Given the description of an element on the screen output the (x, y) to click on. 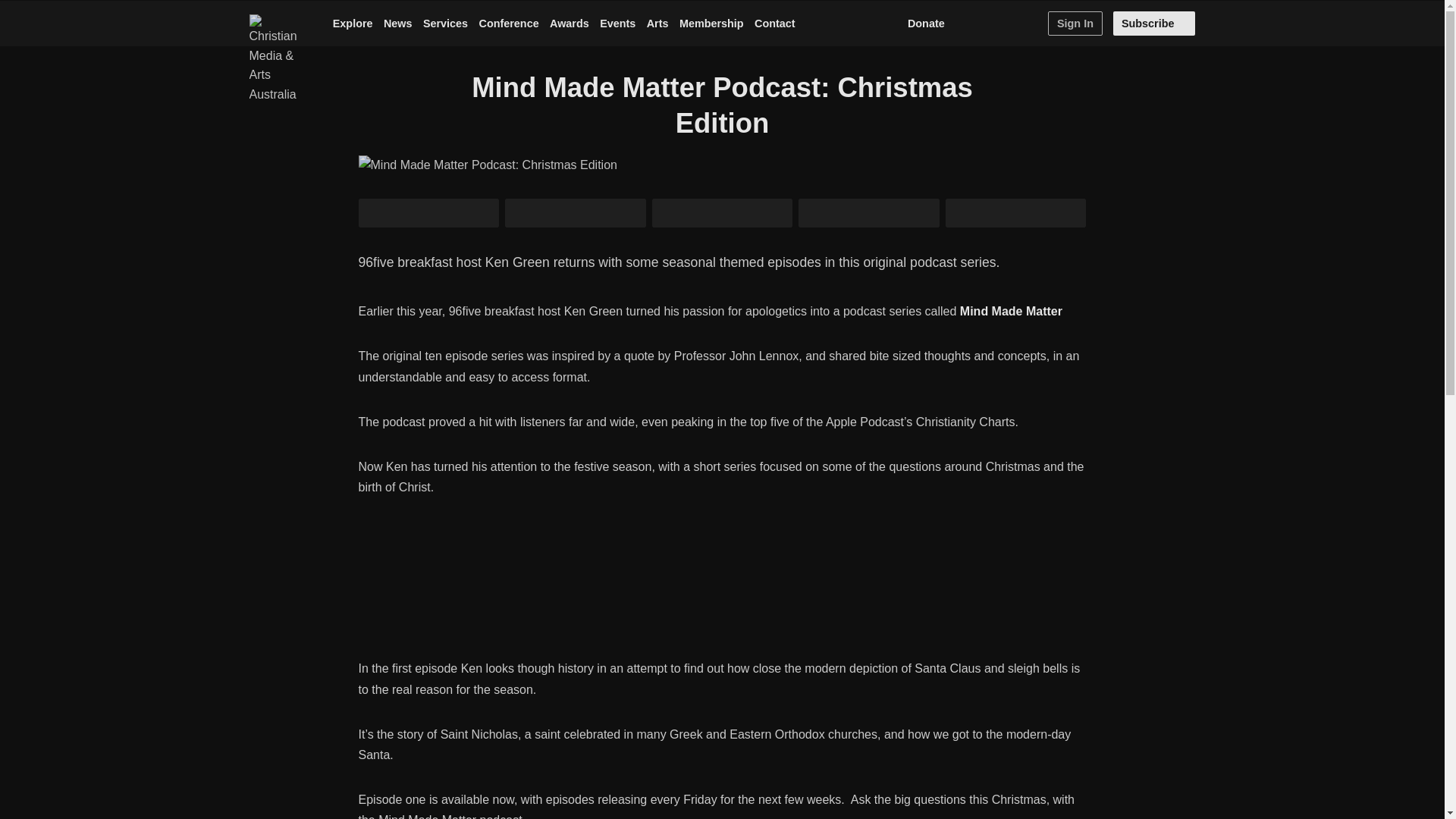
Subscribe (1154, 23)
Christmas Edition 1 - From Christ to Santa (722, 589)
Search (1031, 23)
Arts (657, 23)
Contact (774, 23)
Share by email (868, 213)
Explore (352, 23)
Share on Facebook (575, 213)
Share on Twitter (428, 213)
Donate (925, 23)
